Given the description of an element on the screen output the (x, y) to click on. 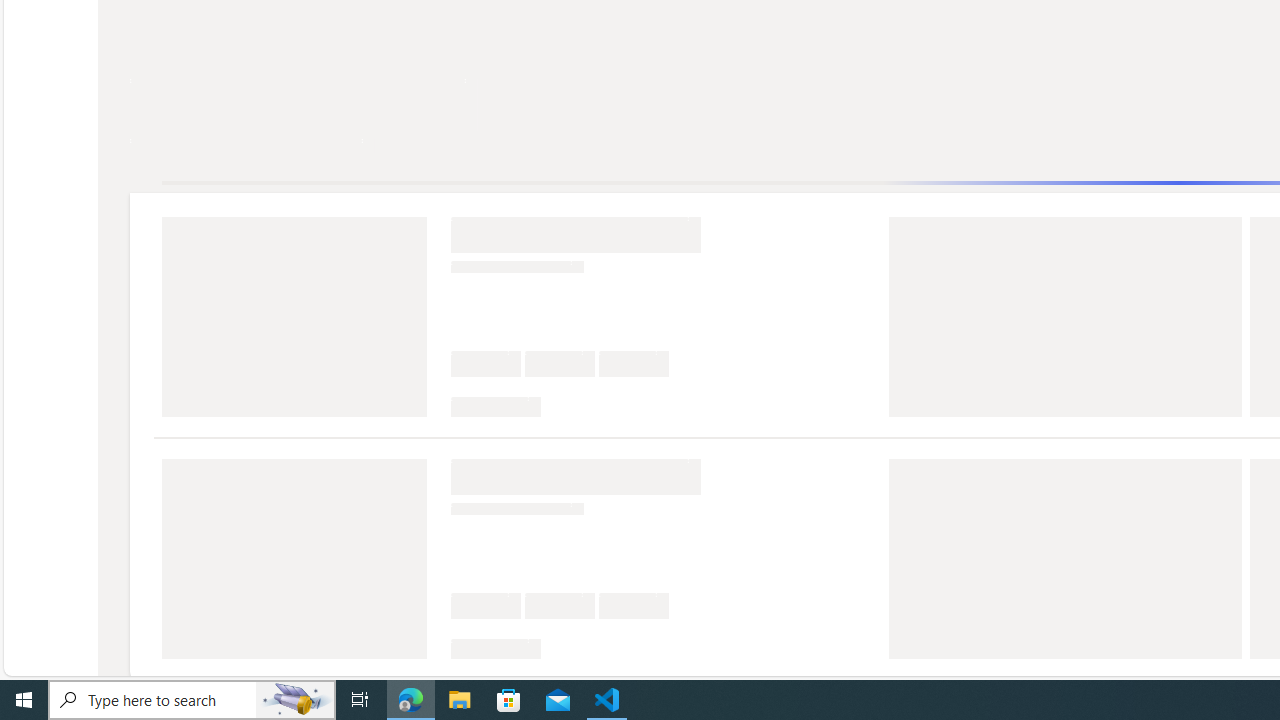
Class: ms-ShimmerLine-topRightCorner topRightCorner-133 (533, 646)
Class: ms-ShimmerLine-bottomLeftCorner bottomLeftCorner-135 (457, 647)
Class: ms-ShimmerLine-topLeftCorner topLeftCorner-132 (457, 646)
